Given the description of an element on the screen output the (x, y) to click on. 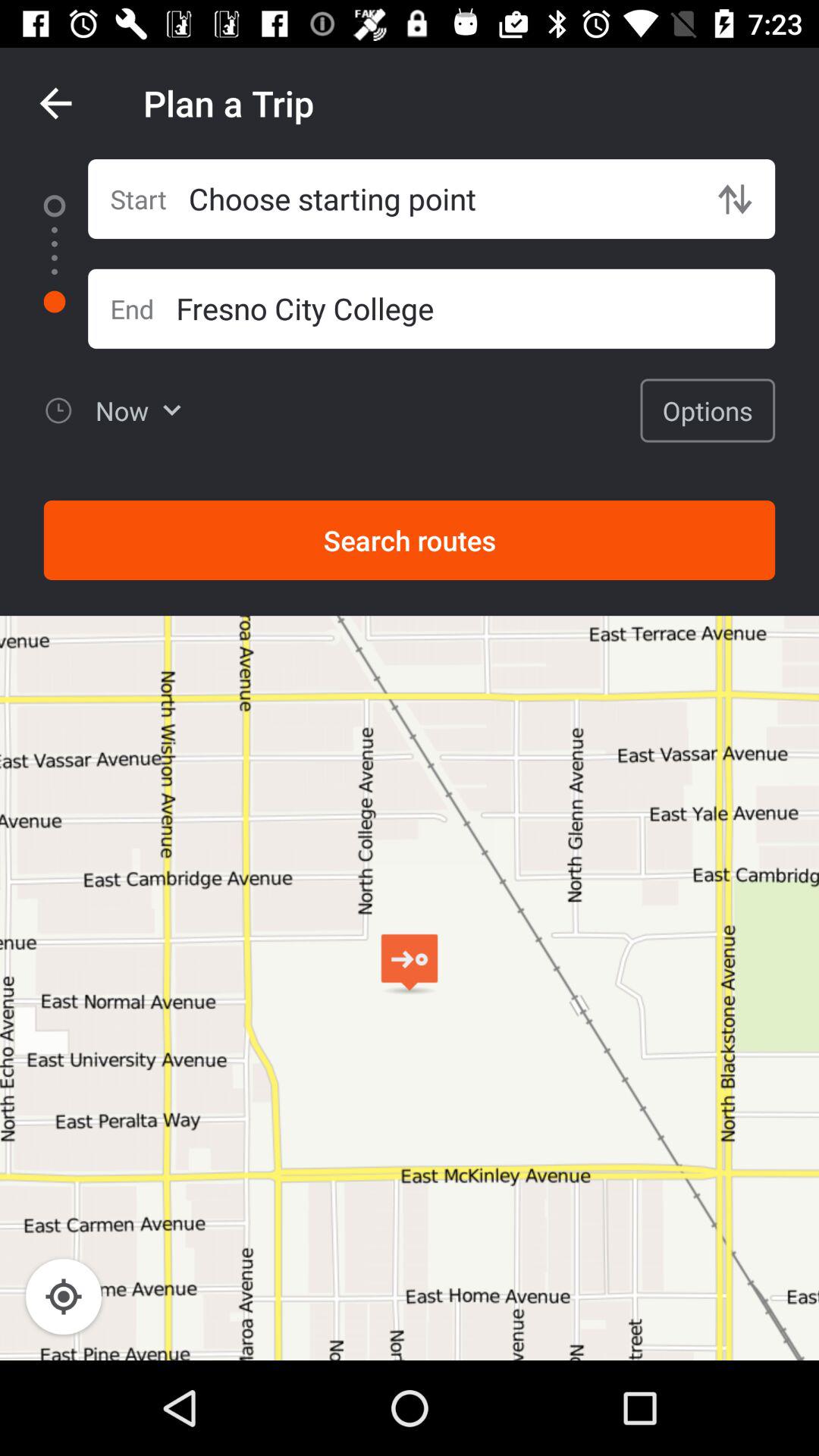
press the icon at the bottom left corner (63, 1296)
